Given the description of an element on the screen output the (x, y) to click on. 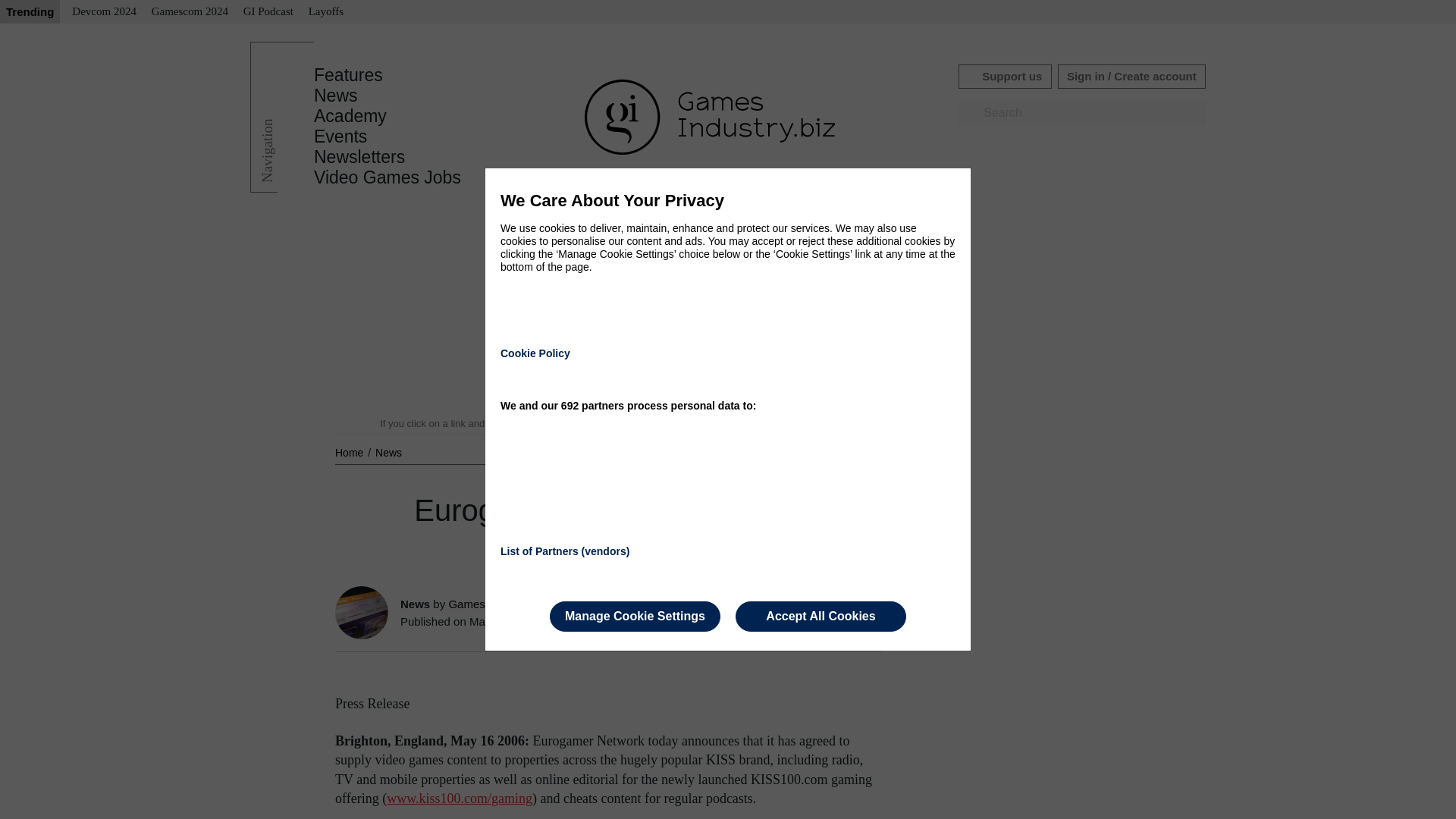
Home (350, 452)
Devcom 2024 (103, 11)
Newsletters (359, 157)
GamesIndustry.biz (494, 603)
News (388, 452)
News (336, 95)
Academy (350, 116)
GI Podcast (268, 11)
Home (350, 452)
Gamescom 2024 (189, 11)
